Given the description of an element on the screen output the (x, y) to click on. 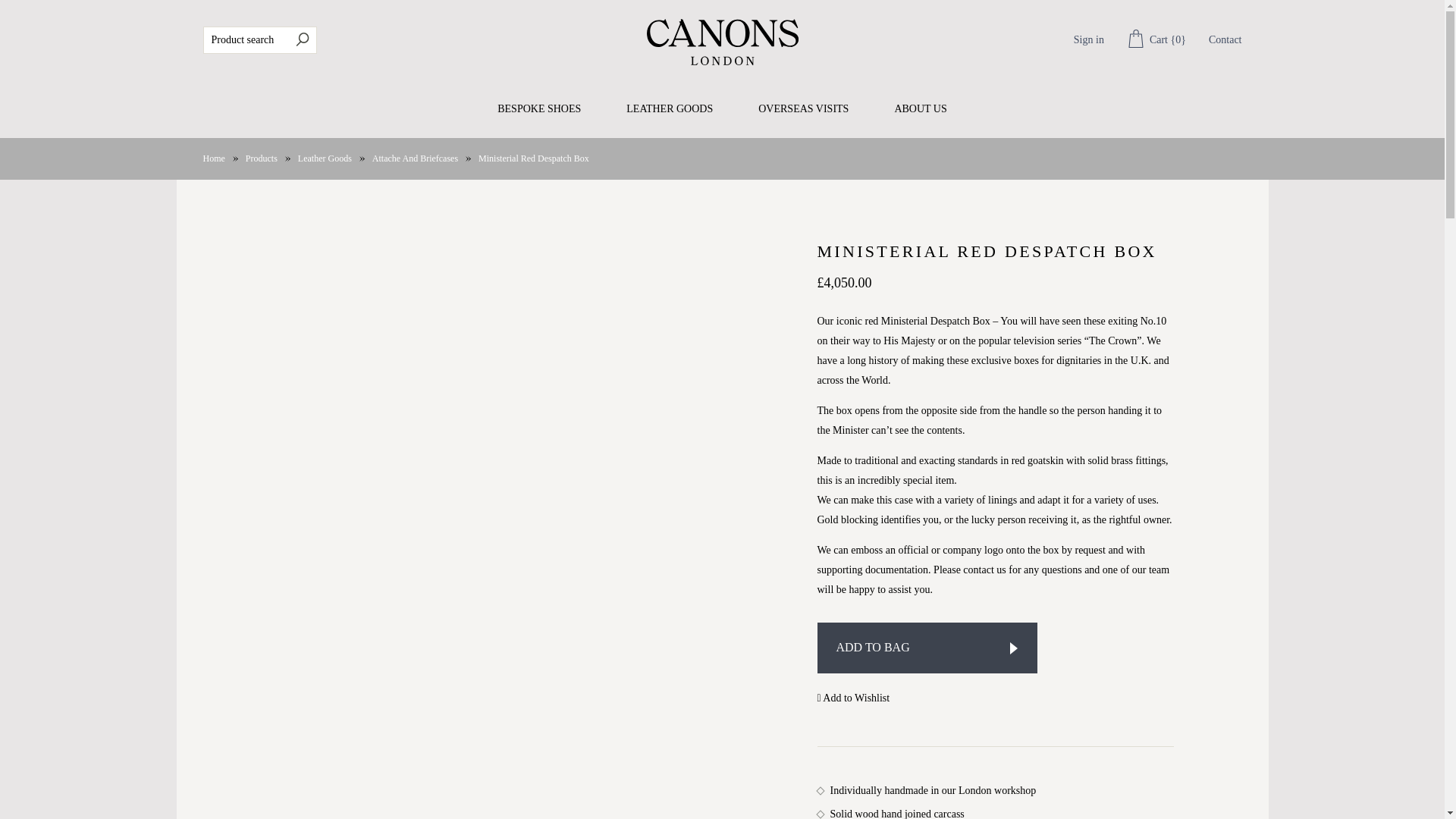
BESPOKE SHOES (538, 108)
ADD TO BAG (926, 647)
ABOUT US (919, 108)
OVERSEAS VISITS (803, 108)
LEATHER GOODS (669, 108)
Leather Goods (325, 158)
Add to Wishlist (852, 697)
Go to the Leather goods Category archives. (325, 158)
Go to Home. (214, 158)
Contact (1224, 39)
Sign in (1088, 39)
Go to the Attache and briefcases Category archives. (415, 158)
Attache And Briefcases (415, 158)
Products (262, 158)
Home (214, 158)
